Given the description of an element on the screen output the (x, y) to click on. 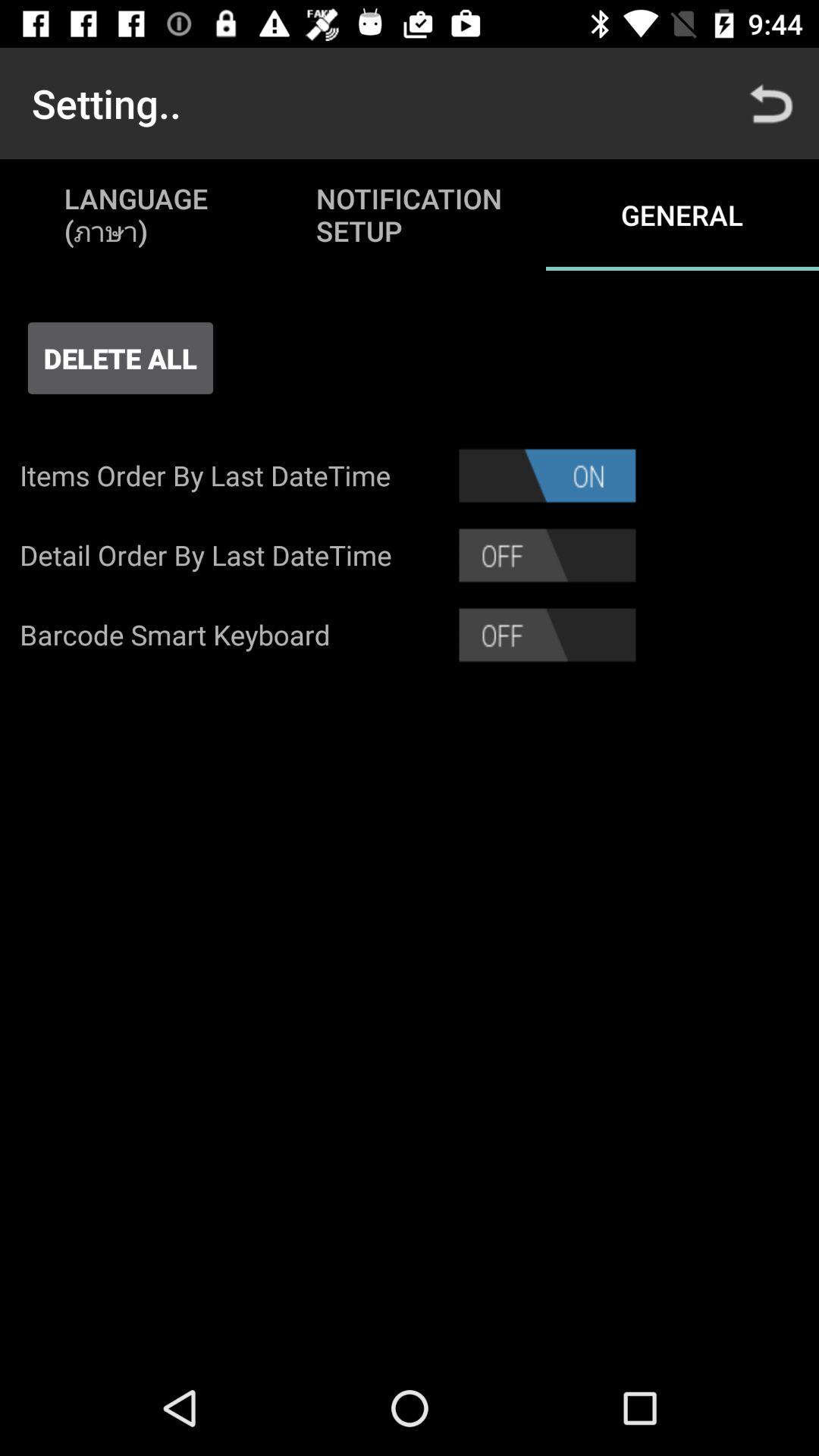
select the app next to notification
setup (771, 103)
